Given the description of an element on the screen output the (x, y) to click on. 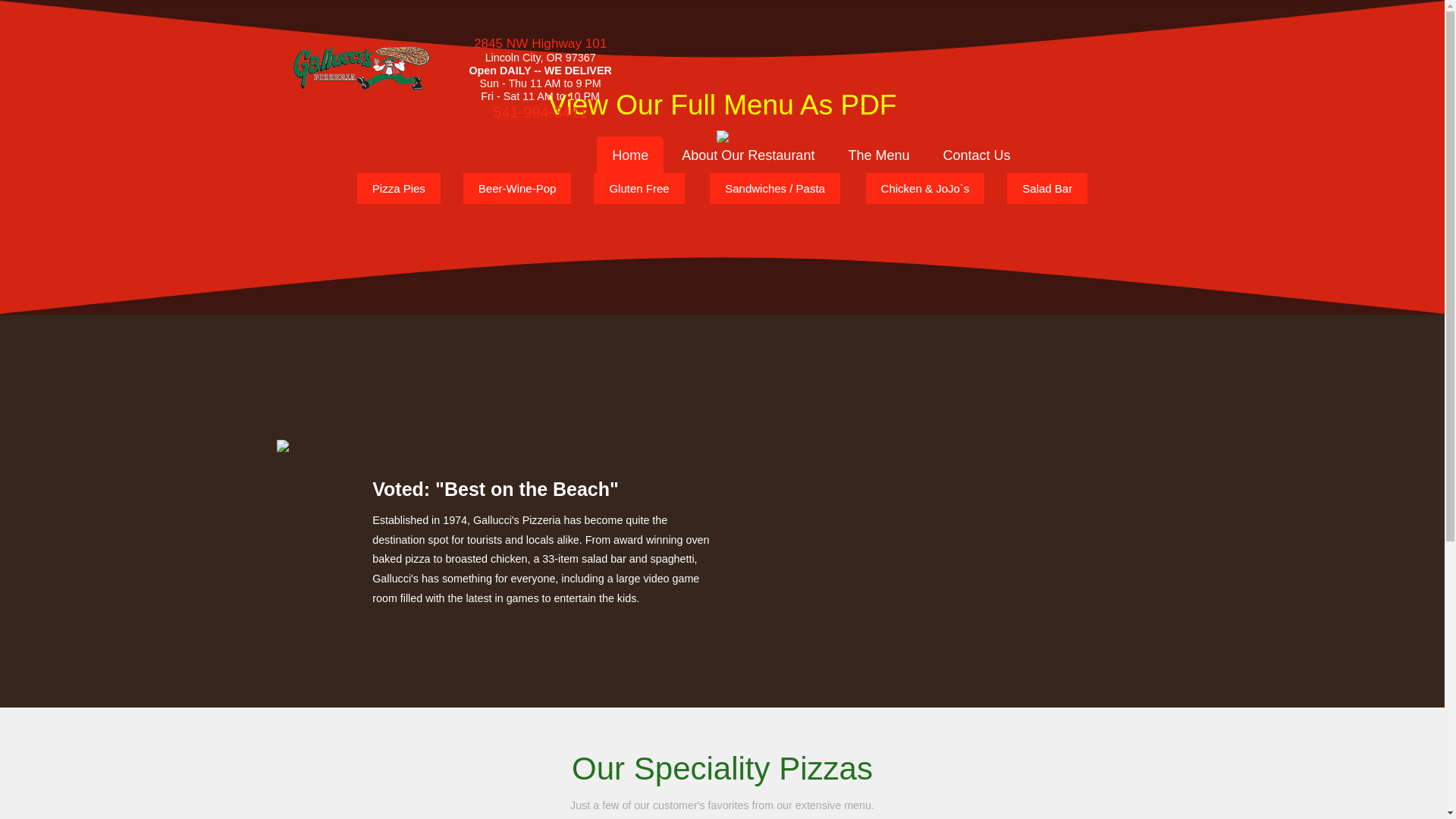
Galluccis Pizzeria - Lincoln City, OR (360, 68)
Home (629, 155)
Salad Bar (1047, 187)
Gluten Free (639, 187)
2845 NW Highway 101 (540, 43)
About Our Restaurant (747, 155)
Pizza Pies (398, 187)
Beer-Wine-Pop (517, 187)
Contact Us (976, 155)
The Menu (878, 155)
